Given the description of an element on the screen output the (x, y) to click on. 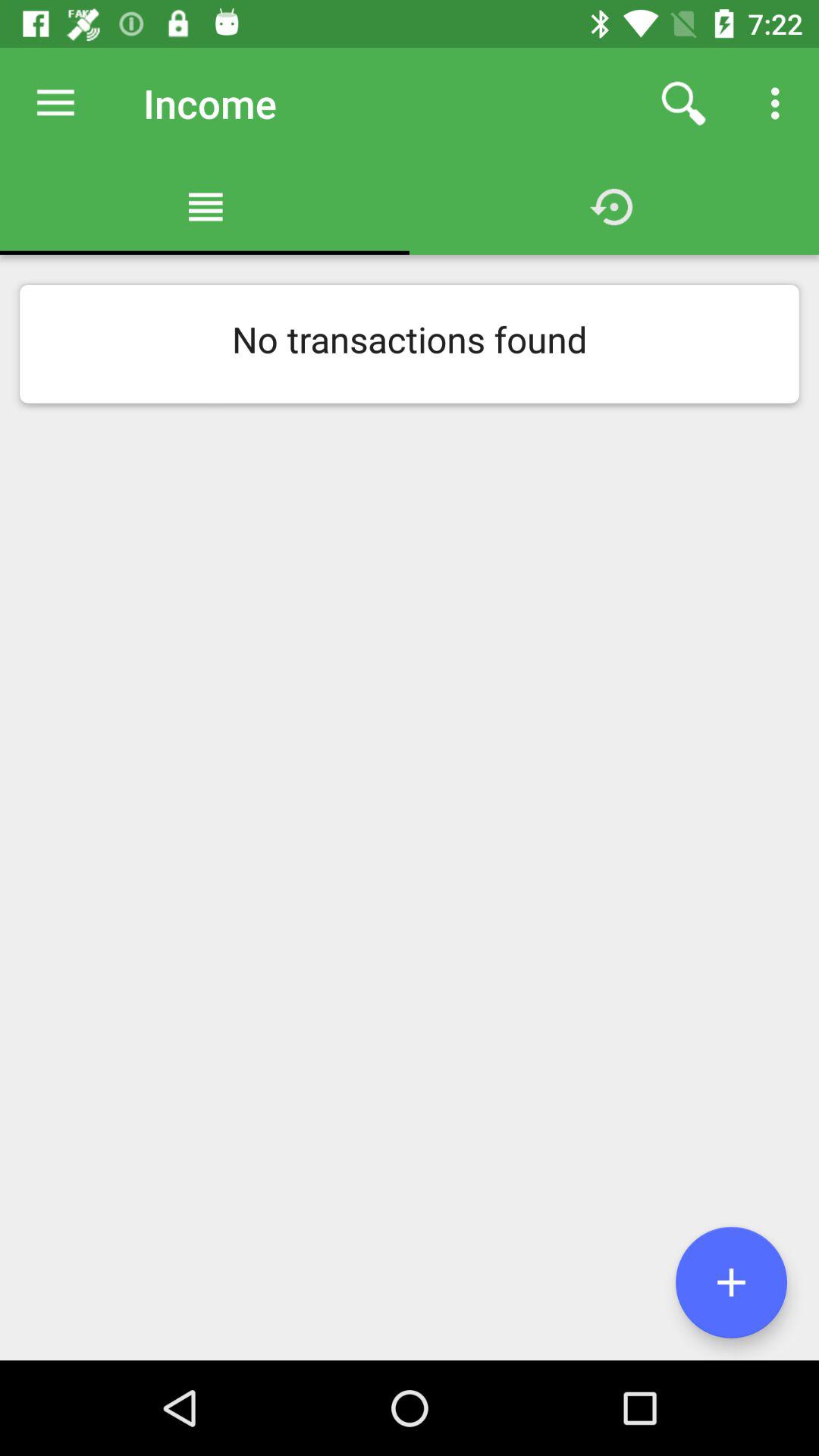
press icon next to income item (683, 103)
